Given the description of an element on the screen output the (x, y) to click on. 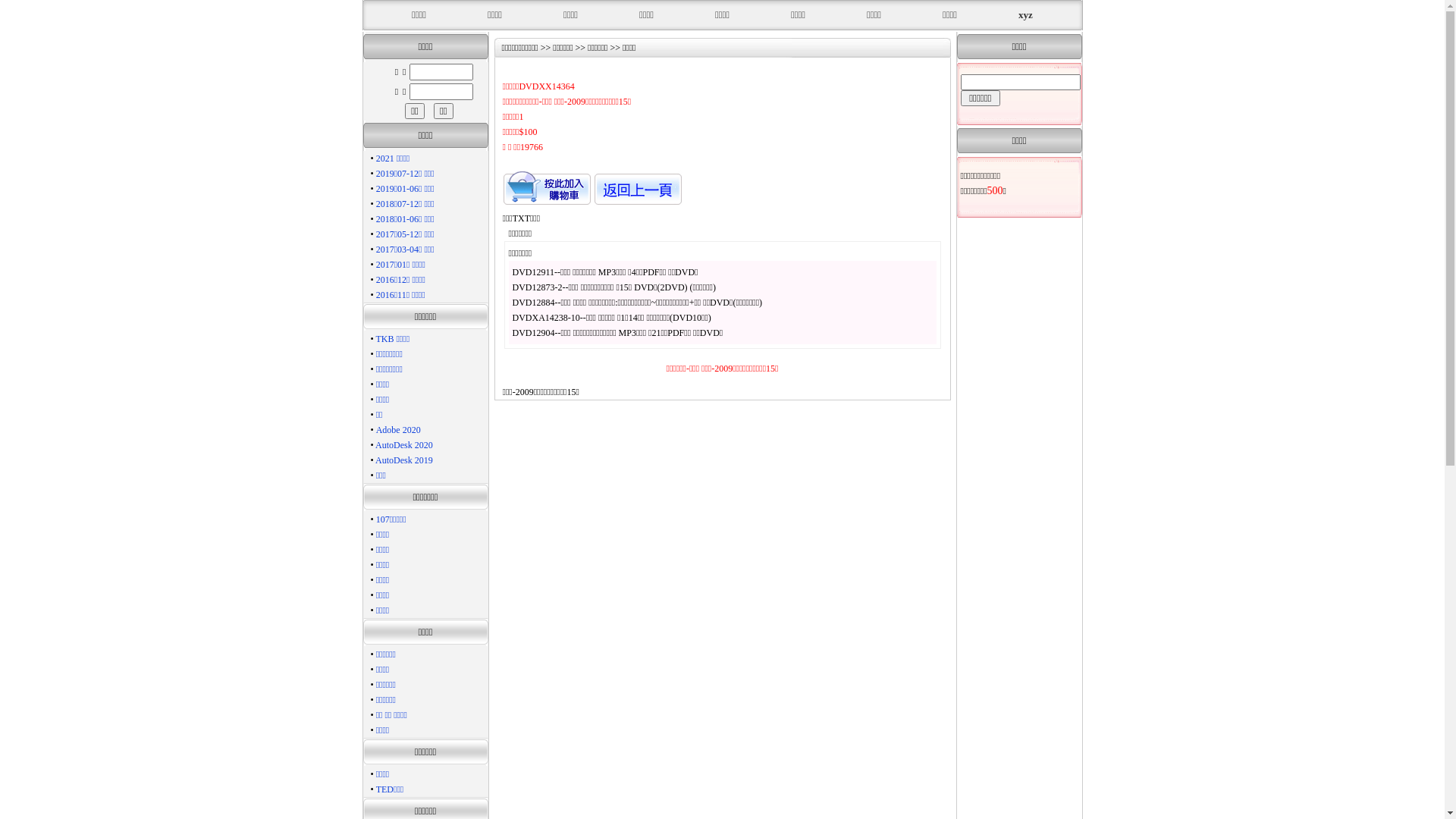
AutoDesk 2019 Element type: text (404, 460)
xyz Element type: text (1025, 14)
Adobe 2020 Element type: text (398, 429)
AutoDesk 2020 Element type: text (404, 444)
